Given the description of an element on the screen output the (x, y) to click on. 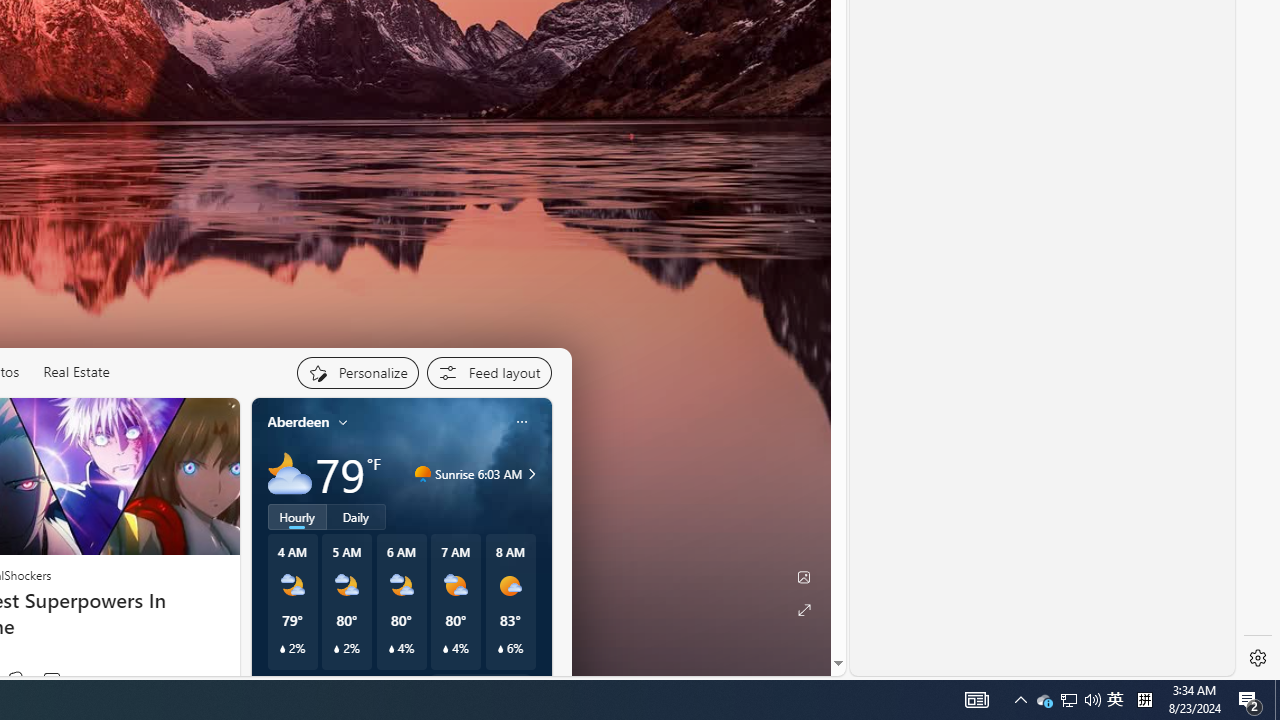
Sunrise 6:03 AM (529, 474)
